Given the description of an element on the screen output the (x, y) to click on. 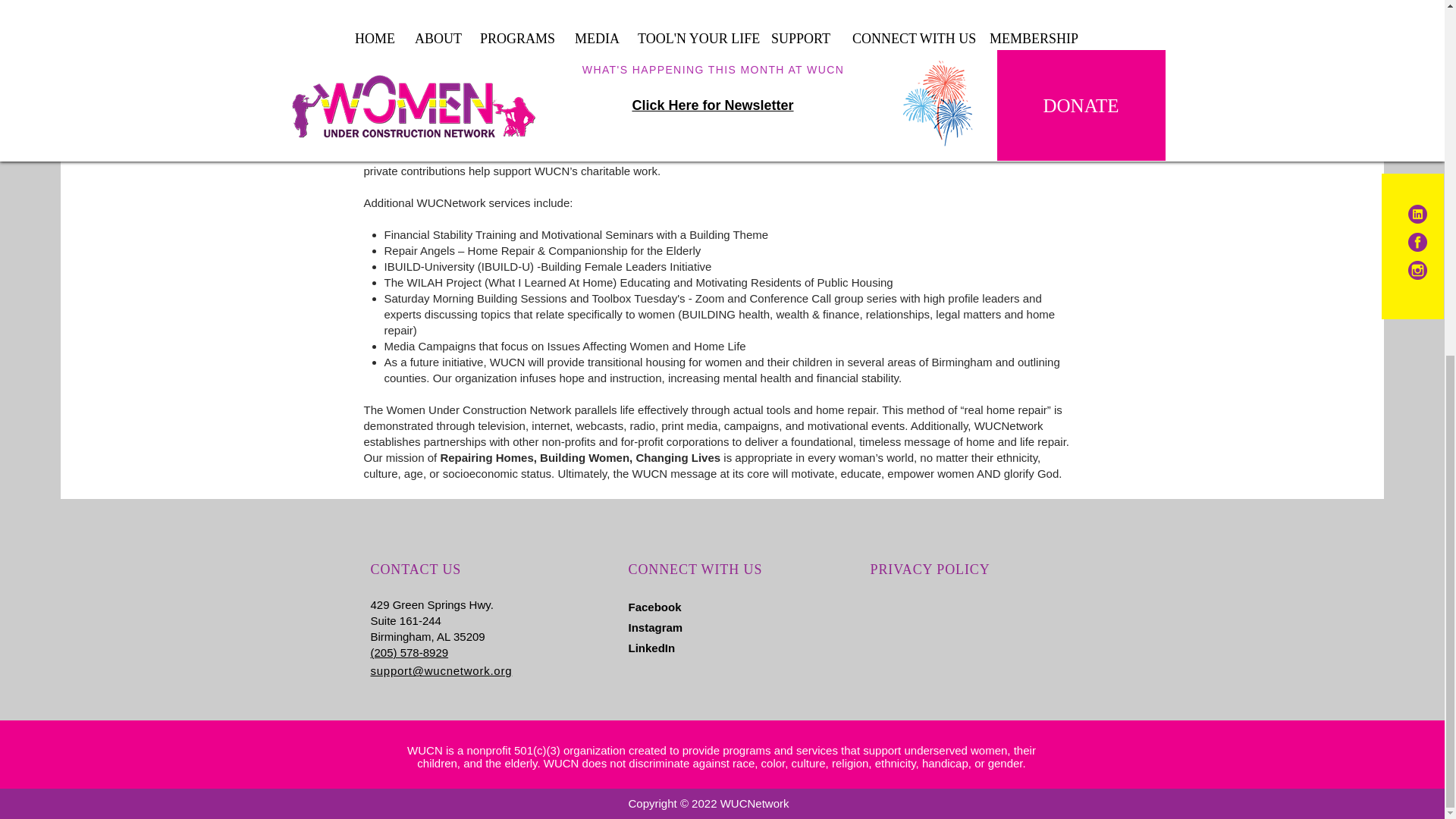
PRIVACY POLICY (930, 569)
LinkedIn (651, 647)
Facebook (654, 606)
Instagram (654, 626)
